Given the description of an element on the screen output the (x, y) to click on. 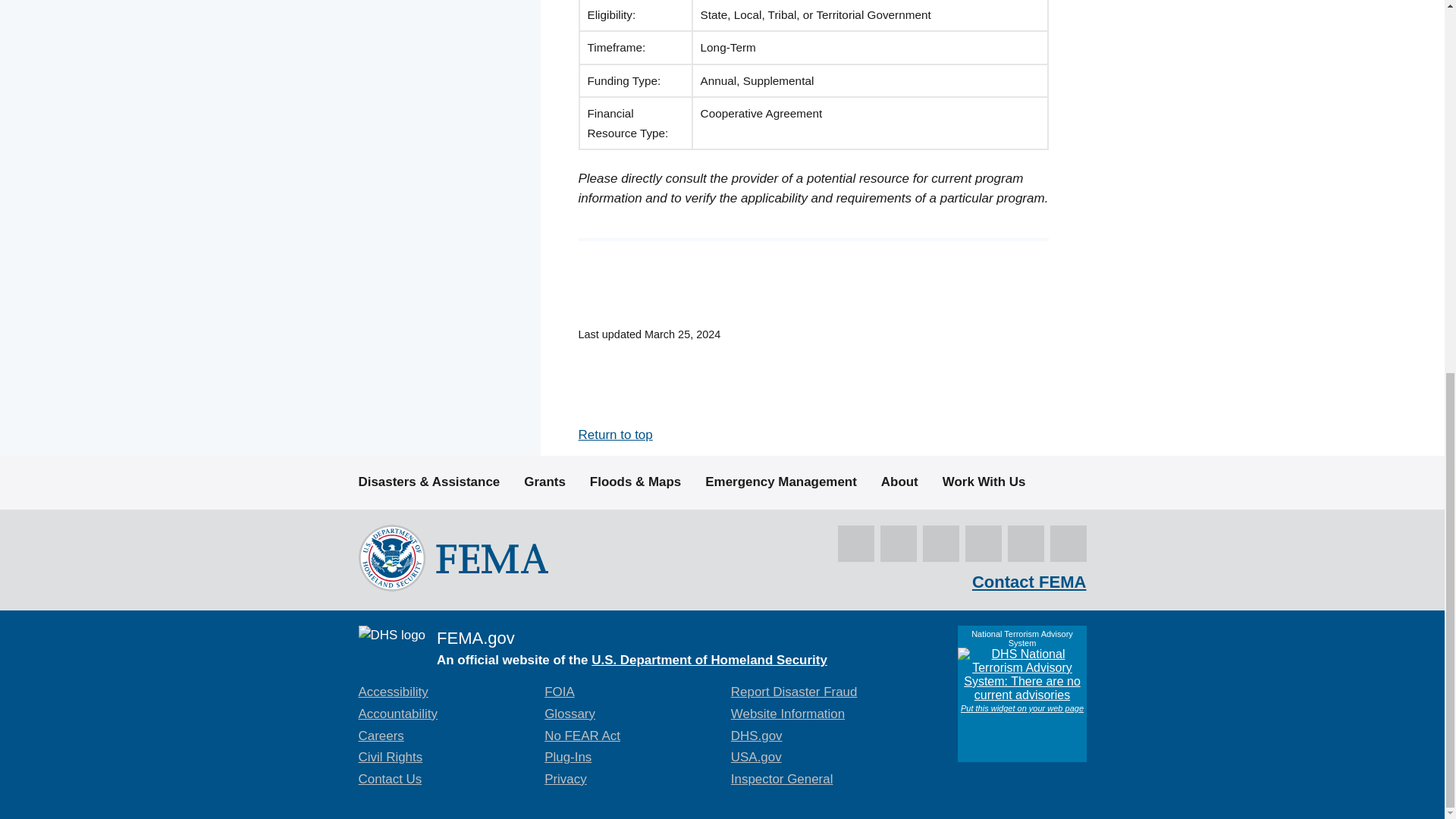
National Terrorism Advisory System (1021, 693)
FEMA logo (452, 557)
Monday, March 25, 2024 - 19:53 (682, 334)
